Given the description of an element on the screen output the (x, y) to click on. 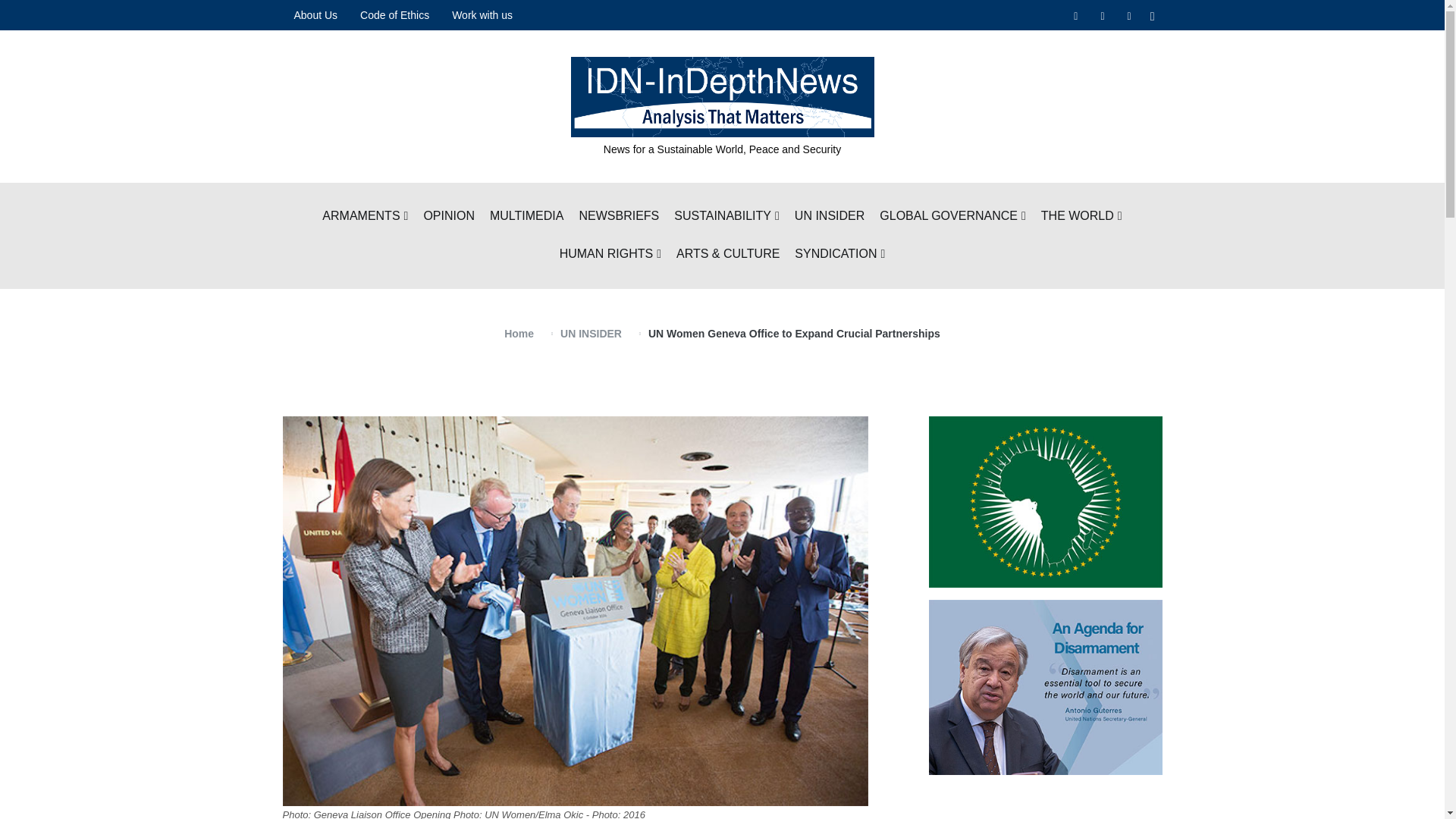
MULTIMEDIA (526, 216)
ARMAMENTS (364, 216)
About Us (315, 14)
Work with us (482, 14)
GLOBAL GOVERNANCE (952, 216)
Twitter (1102, 15)
OPINION (448, 216)
NEWSBRIEFS (618, 216)
LinkedIn (1129, 15)
UN INSIDER (829, 216)
Code of Ethics (395, 14)
Facebook (1075, 15)
SUSTAINABILITY (726, 216)
